Given the description of an element on the screen output the (x, y) to click on. 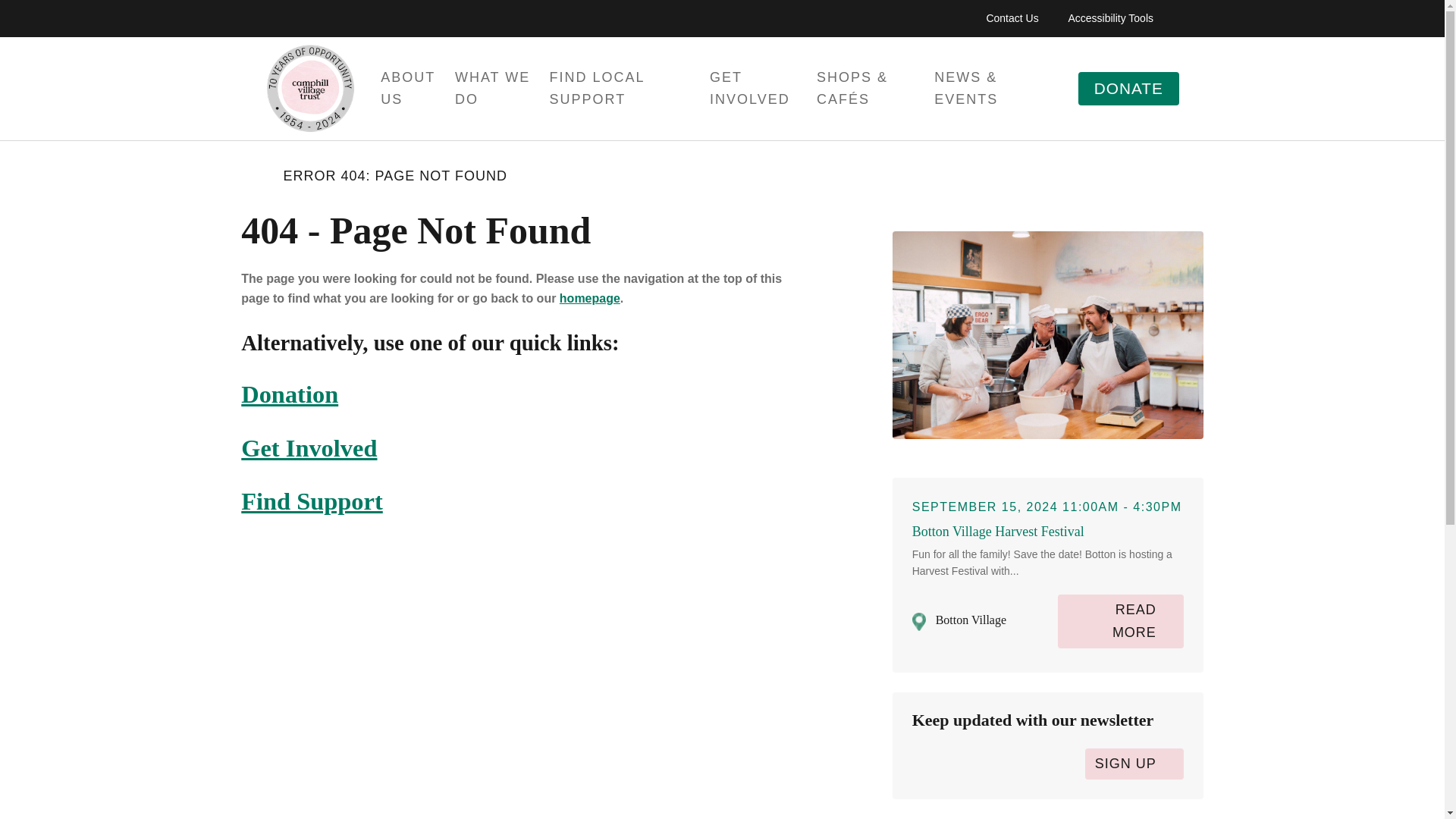
Contact Us (1012, 18)
View Homepage (310, 89)
Accessibility Tools (1110, 18)
